Given the description of an element on the screen output the (x, y) to click on. 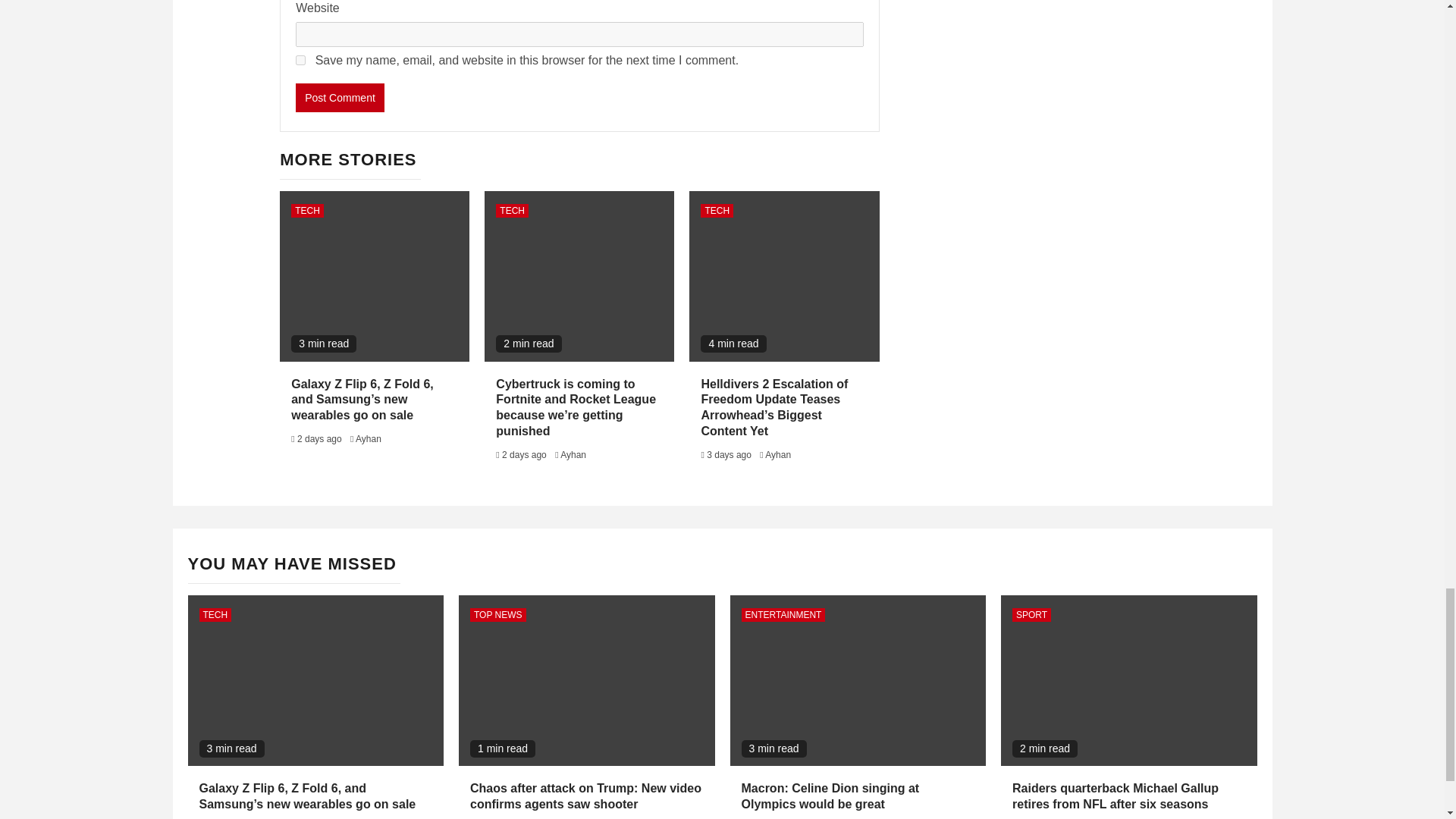
Post Comment (339, 97)
TECH (512, 210)
TECH (307, 210)
Ayhan (777, 454)
Ayhan (368, 439)
Post Comment (339, 97)
TECH (716, 210)
Ayhan (573, 454)
yes (300, 60)
